Given the description of an element on the screen output the (x, y) to click on. 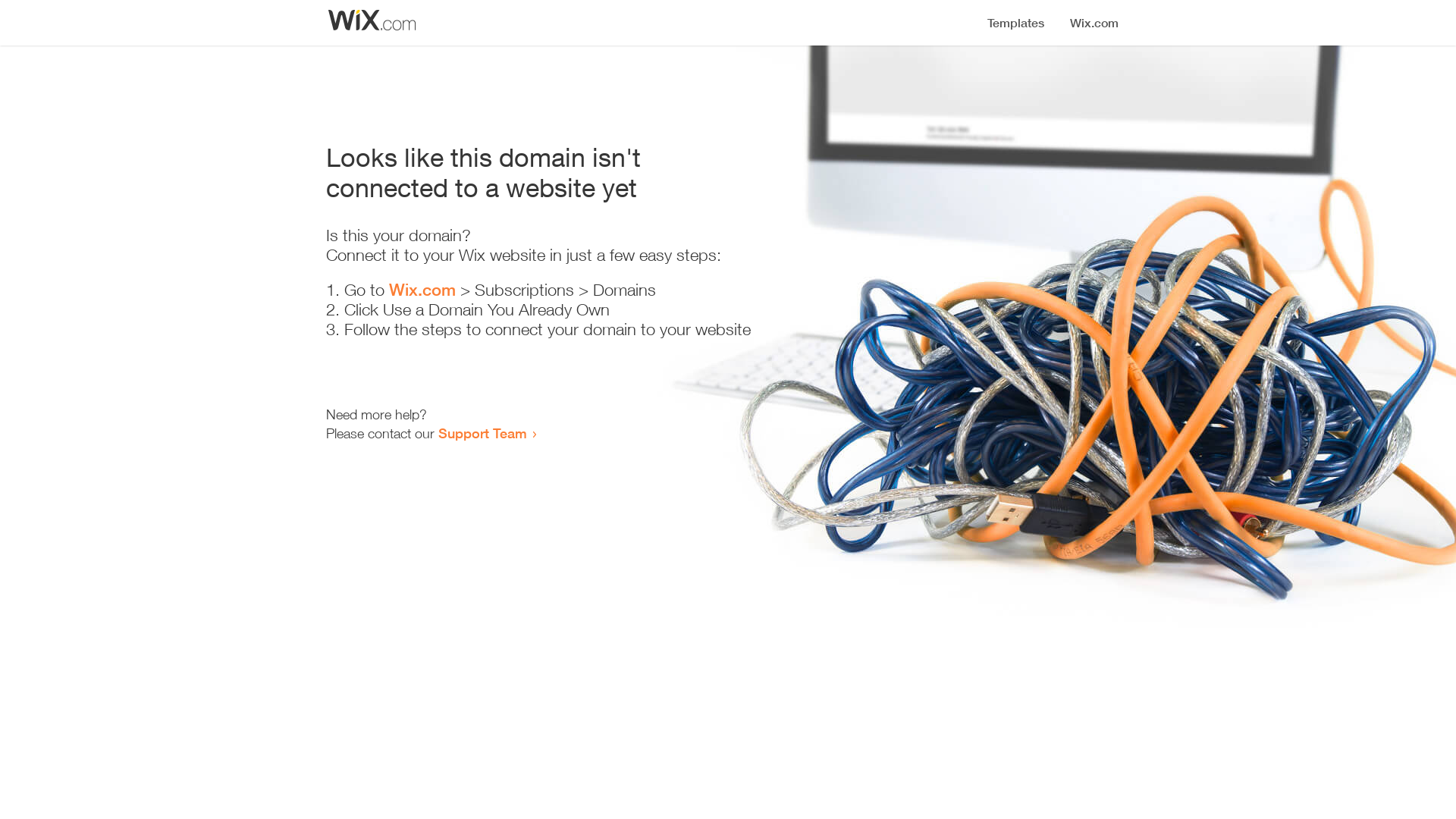
Wix.com Element type: text (422, 289)
Support Team Element type: text (482, 432)
